Given the description of an element on the screen output the (x, y) to click on. 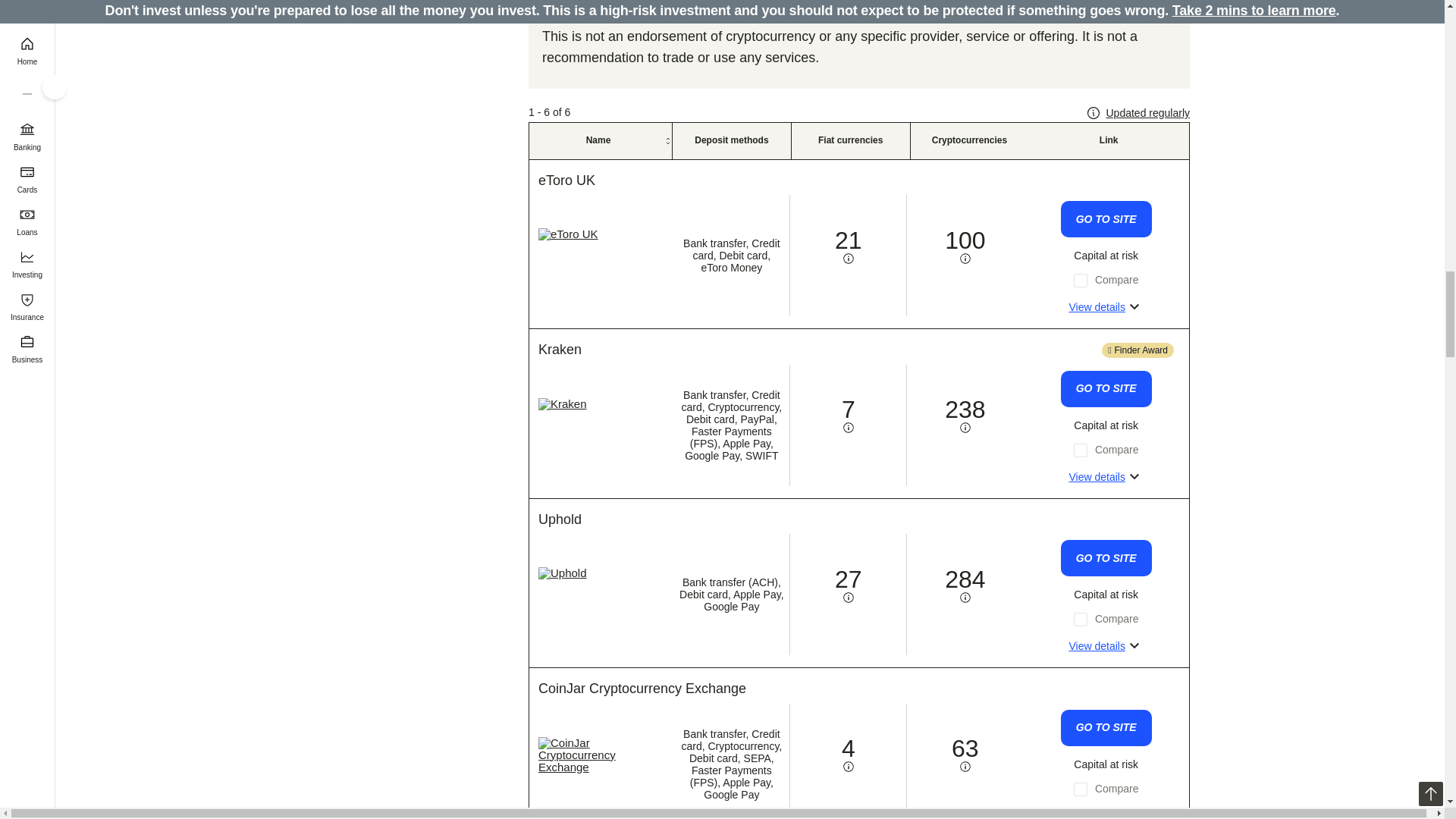
Go to the Kraken website to learn more about this product (1106, 389)
Read our review of this product (559, 349)
Further details about the eToro UK (1106, 307)
Go to the eToro website to learn more about this product (1106, 218)
Read our review of this product (566, 180)
Read our review of this product (559, 519)
